Given the description of an element on the screen output the (x, y) to click on. 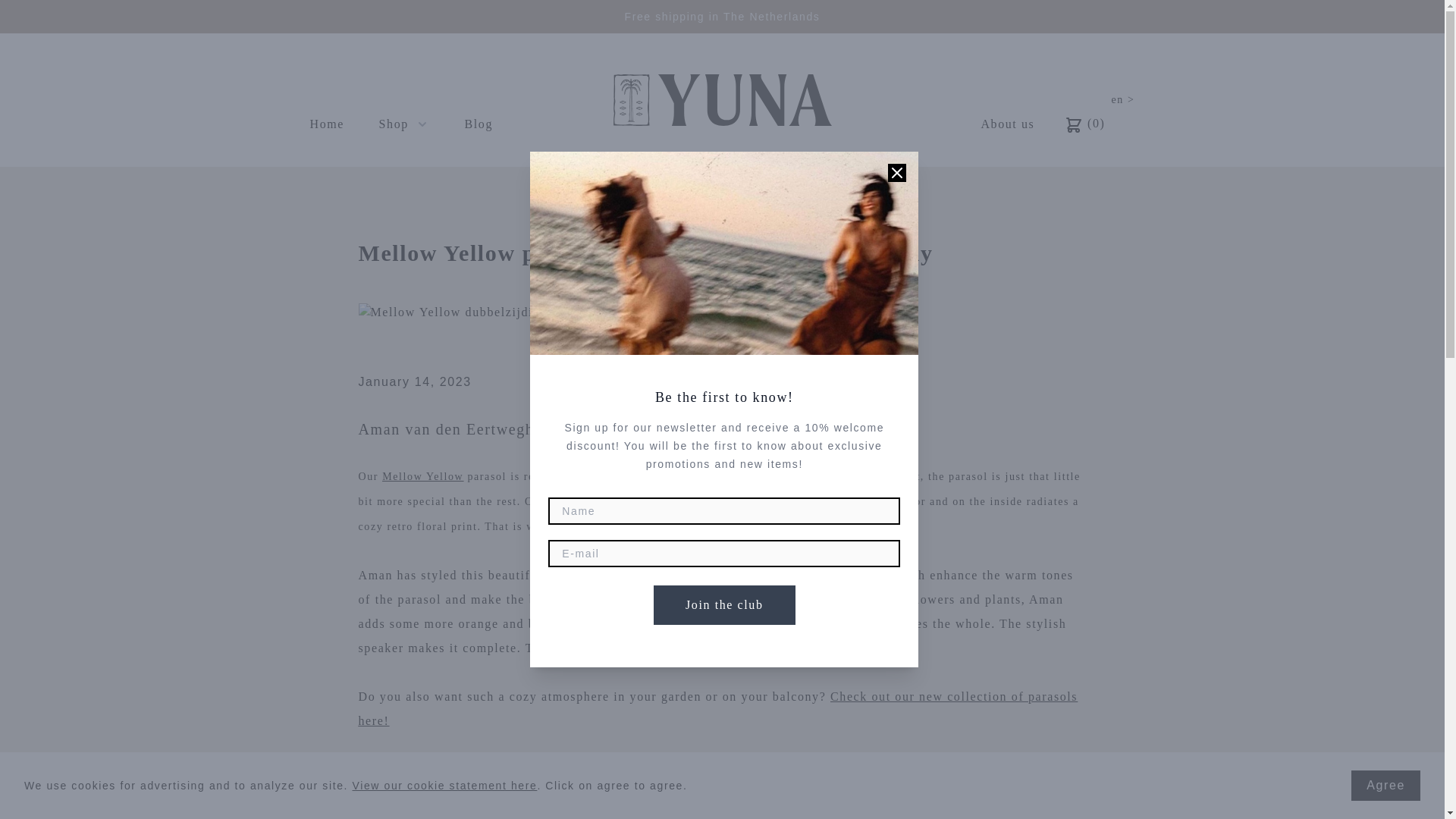
Check out our new collection of parasols here! (717, 708)
Shop (403, 124)
Mellow Yellow (422, 476)
Home (327, 123)
Join the club (723, 604)
Close (896, 172)
View our cookie statement here (444, 785)
Blog (478, 123)
About us (1006, 124)
Agree (1386, 785)
